Given the description of an element on the screen output the (x, y) to click on. 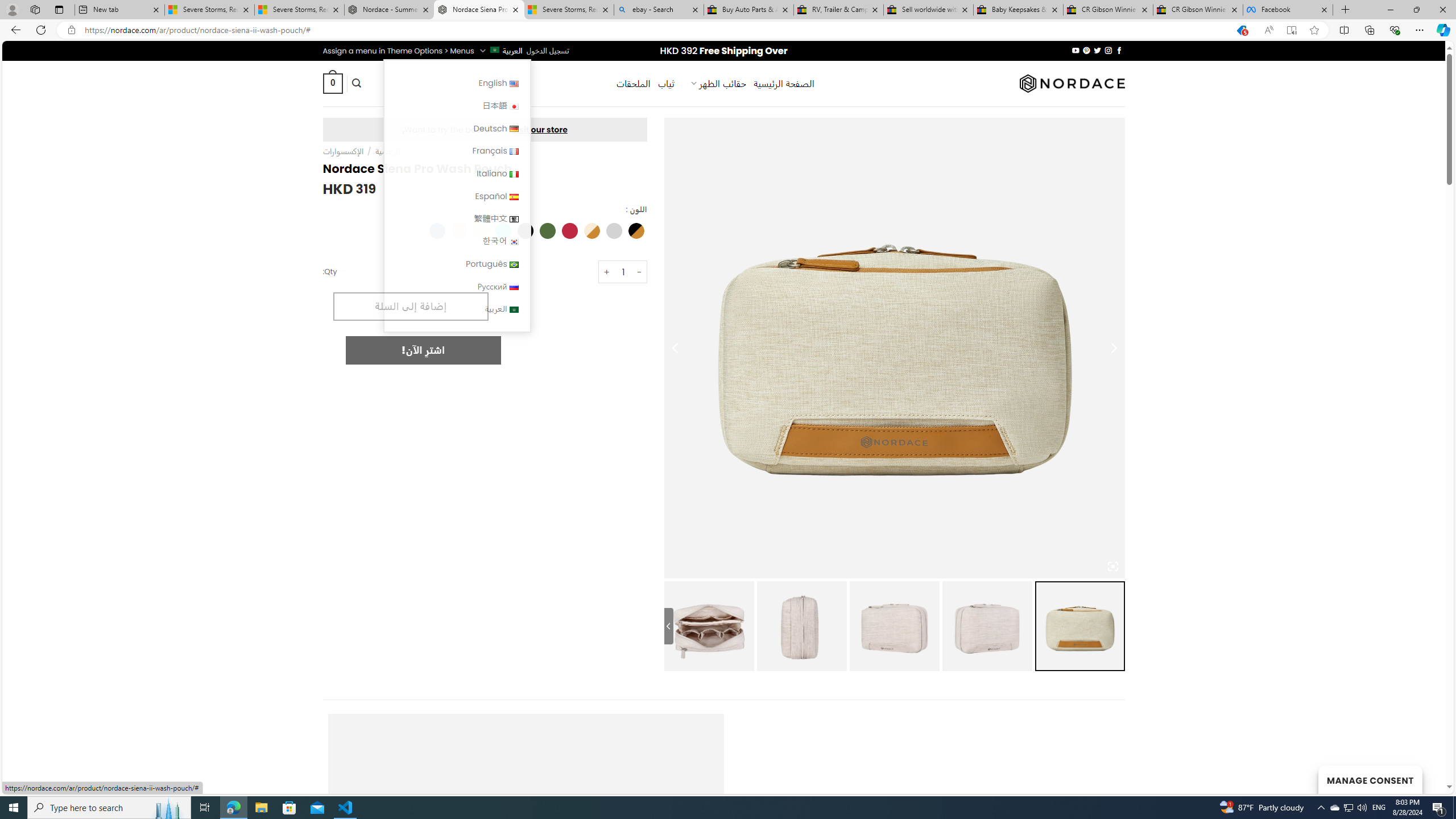
Assign a menu in Theme Options > Menus (397, 50)
English English (456, 83)
MANAGE CONSENT (1369, 779)
Follow on Twitter (1096, 50)
Tab actions menu (58, 9)
